Given the description of an element on the screen output the (x, y) to click on. 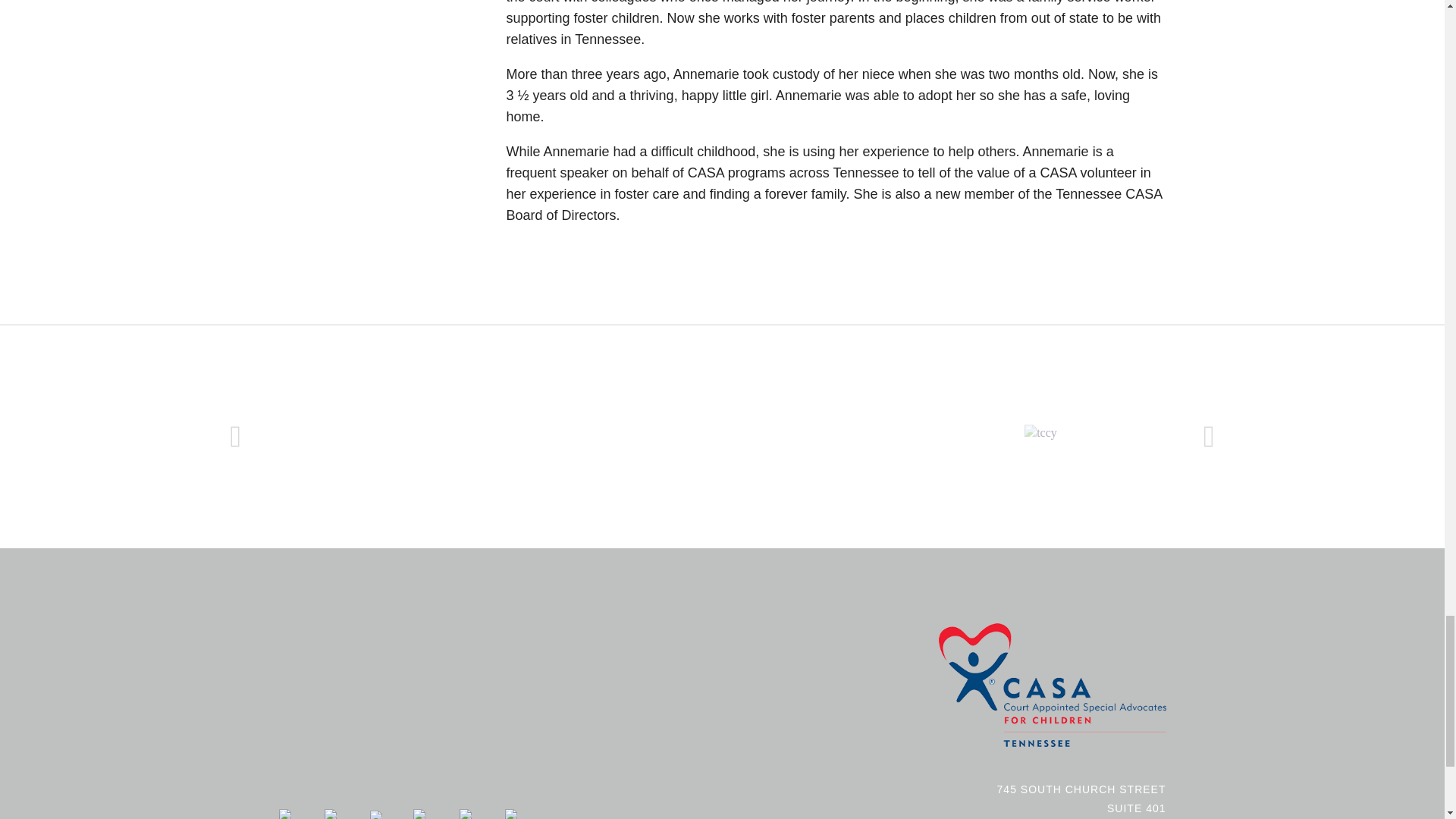
logo (1052, 684)
